Given the description of an element on the screen output the (x, y) to click on. 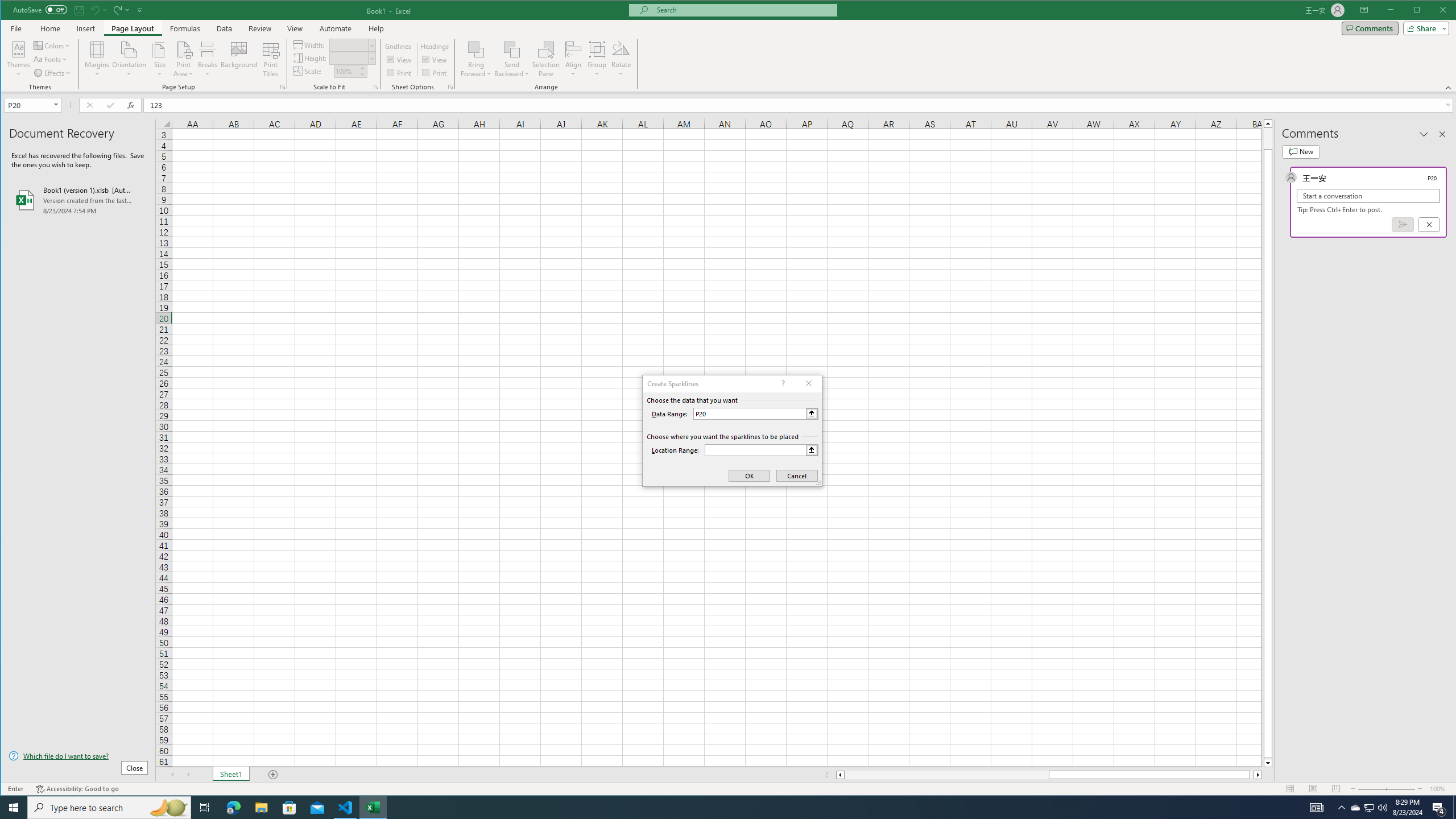
Less (361, 73)
Fonts (51, 59)
More (361, 68)
New comment (1300, 151)
Width (352, 44)
Colors (53, 45)
Group (596, 59)
